Given the description of an element on the screen output the (x, y) to click on. 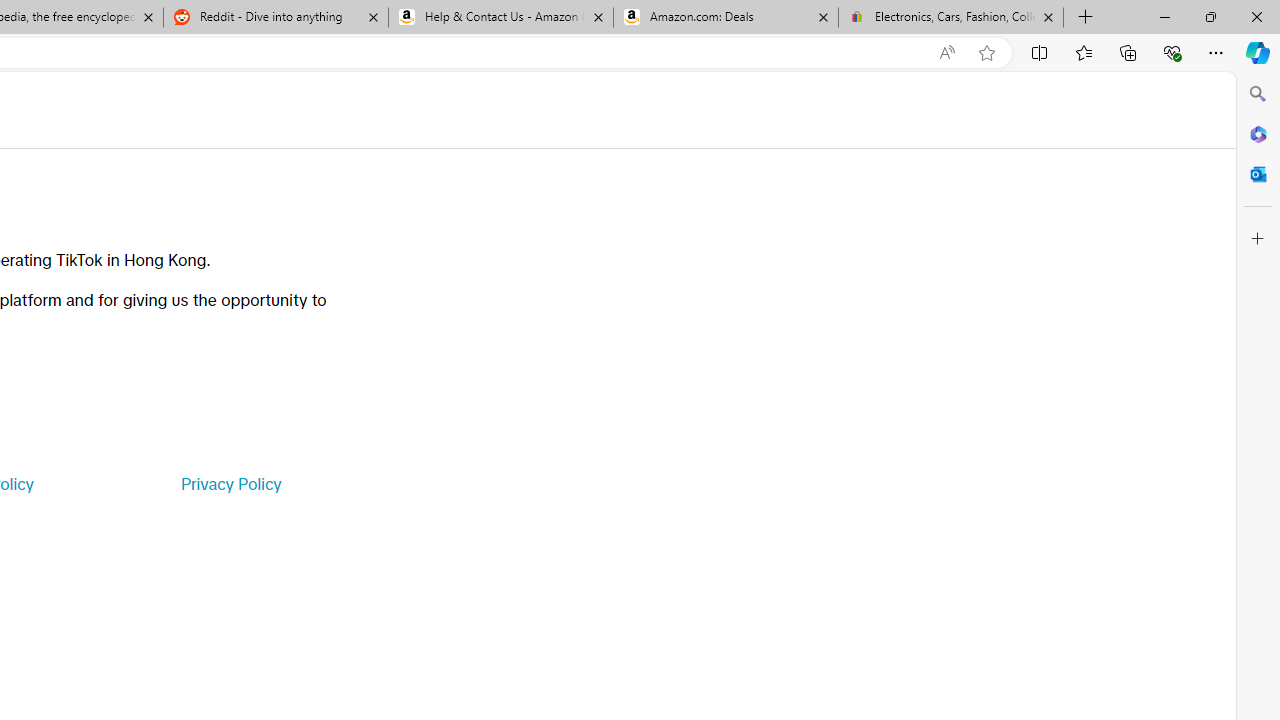
Amazon.com: Deals (726, 17)
Privacy Policy (230, 484)
